Given the description of an element on the screen output the (x, y) to click on. 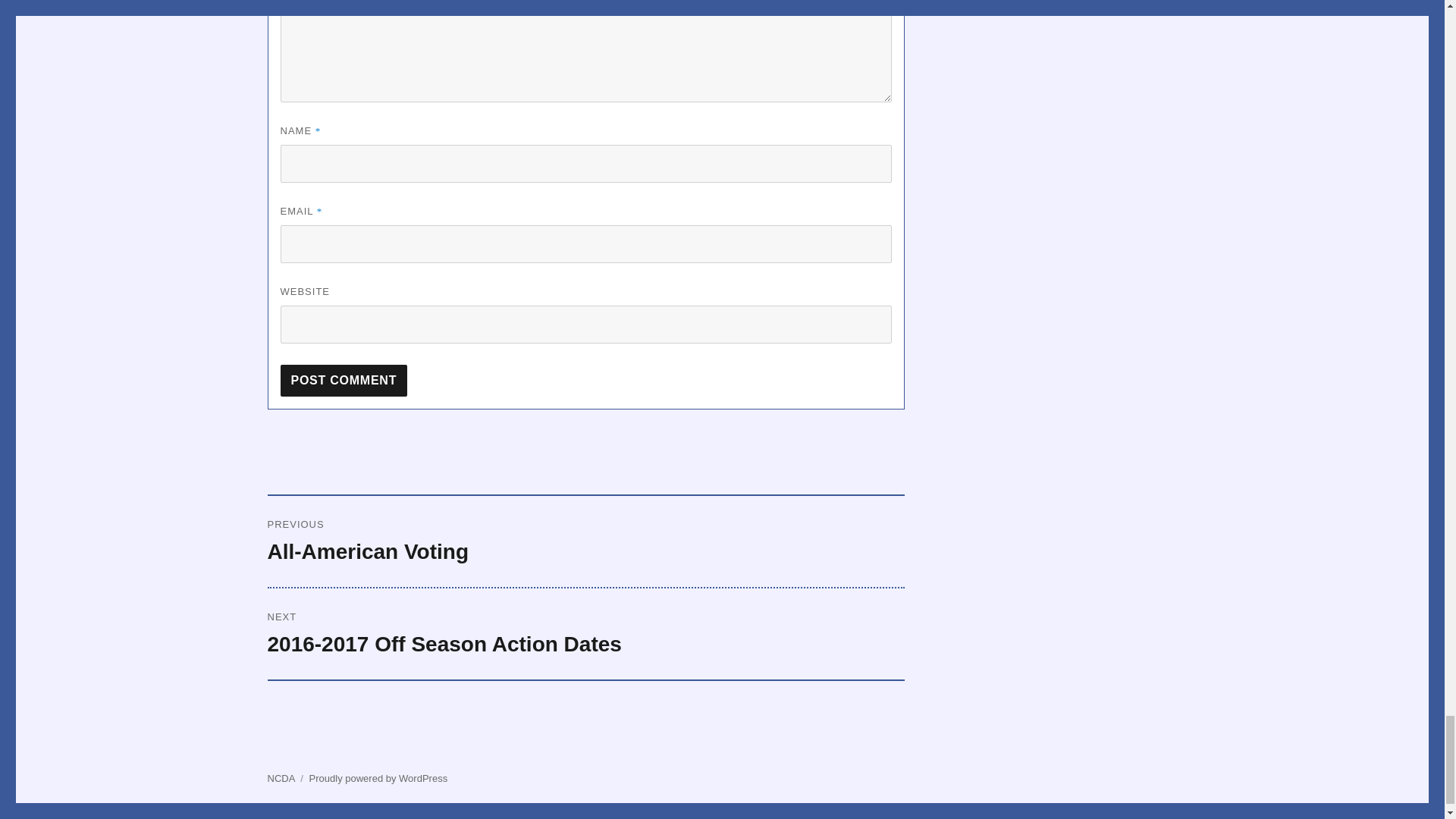
Post Comment (344, 380)
